Given the description of an element on the screen output the (x, y) to click on. 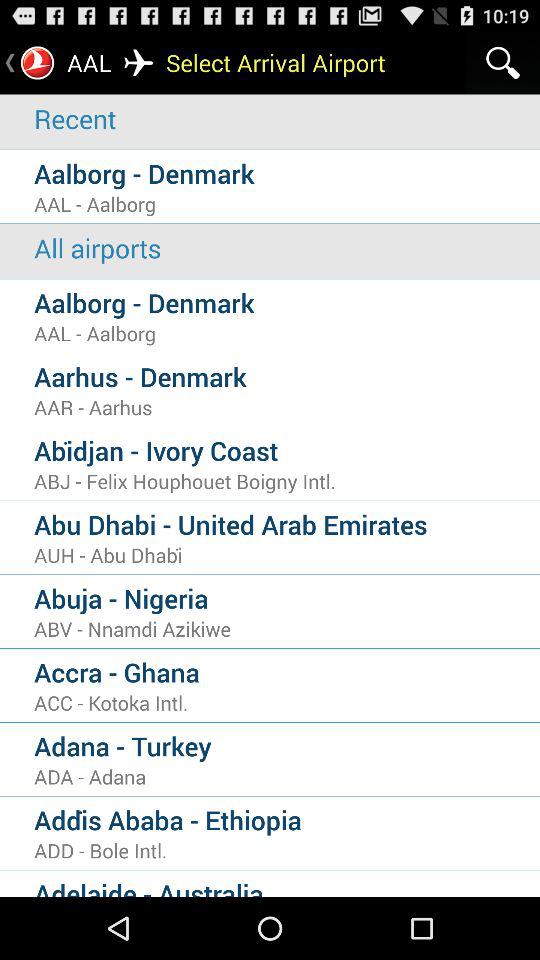
select the icon above abj felix houphouet (287, 450)
